Given the description of an element on the screen output the (x, y) to click on. 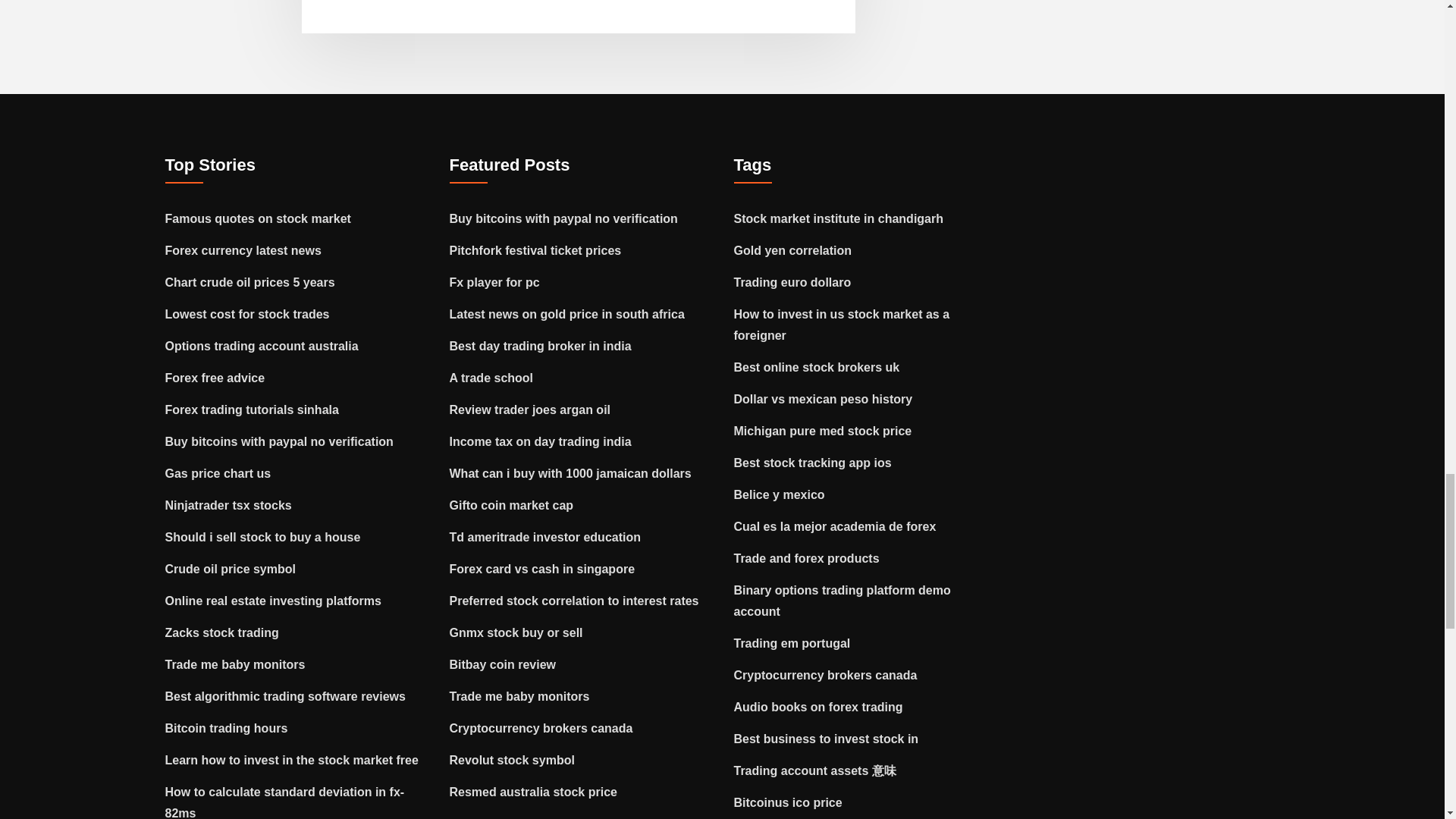
Learn how to invest in the stock market free (292, 759)
Famous quotes on stock market (257, 218)
Forex trading tutorials sinhala (252, 409)
Trade me baby monitors (235, 664)
Online real estate investing platforms (273, 600)
Chart crude oil prices 5 years (249, 282)
Buy bitcoins with paypal no verification (279, 440)
Crude oil price symbol (230, 568)
Forex currency latest news (243, 250)
Should i sell stock to buy a house (263, 536)
Gas price chart us (217, 472)
Zacks stock trading (222, 632)
Ninjatrader tsx stocks (228, 504)
Forex free advice (214, 377)
Options trading account australia (261, 345)
